Given the description of an element on the screen output the (x, y) to click on. 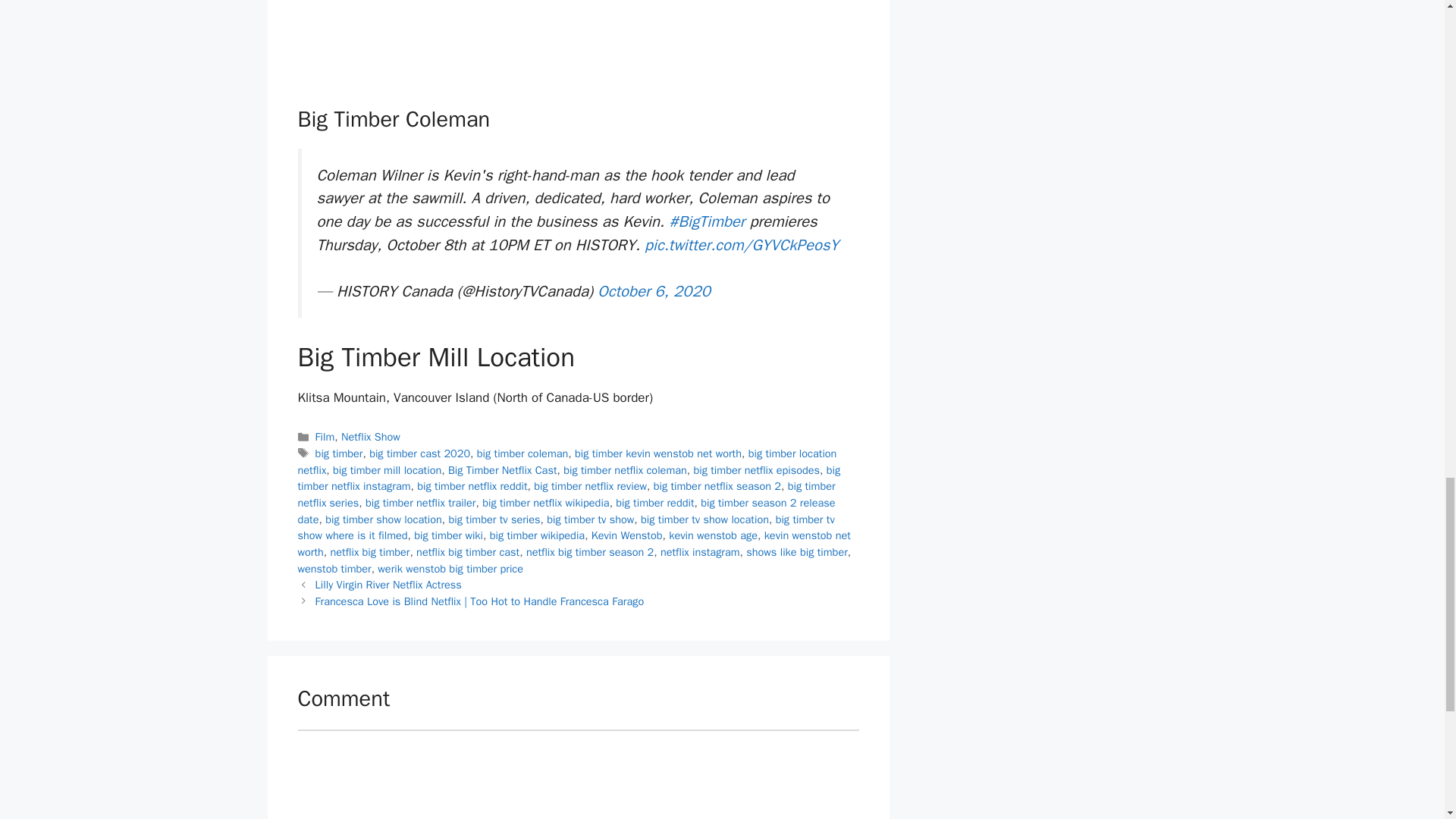
October 6, 2020 (653, 291)
big timber location netflix (566, 461)
big timber cast 2020 (419, 453)
big timber netflix coleman (625, 469)
big timber netflix episodes (756, 469)
big timber (338, 453)
big timber kevin wenstob net worth (658, 453)
big timber netflix season 2 (716, 486)
Big Timber Netflix Cast (502, 469)
big timber netflix review (590, 486)
